Given the description of an element on the screen output the (x, y) to click on. 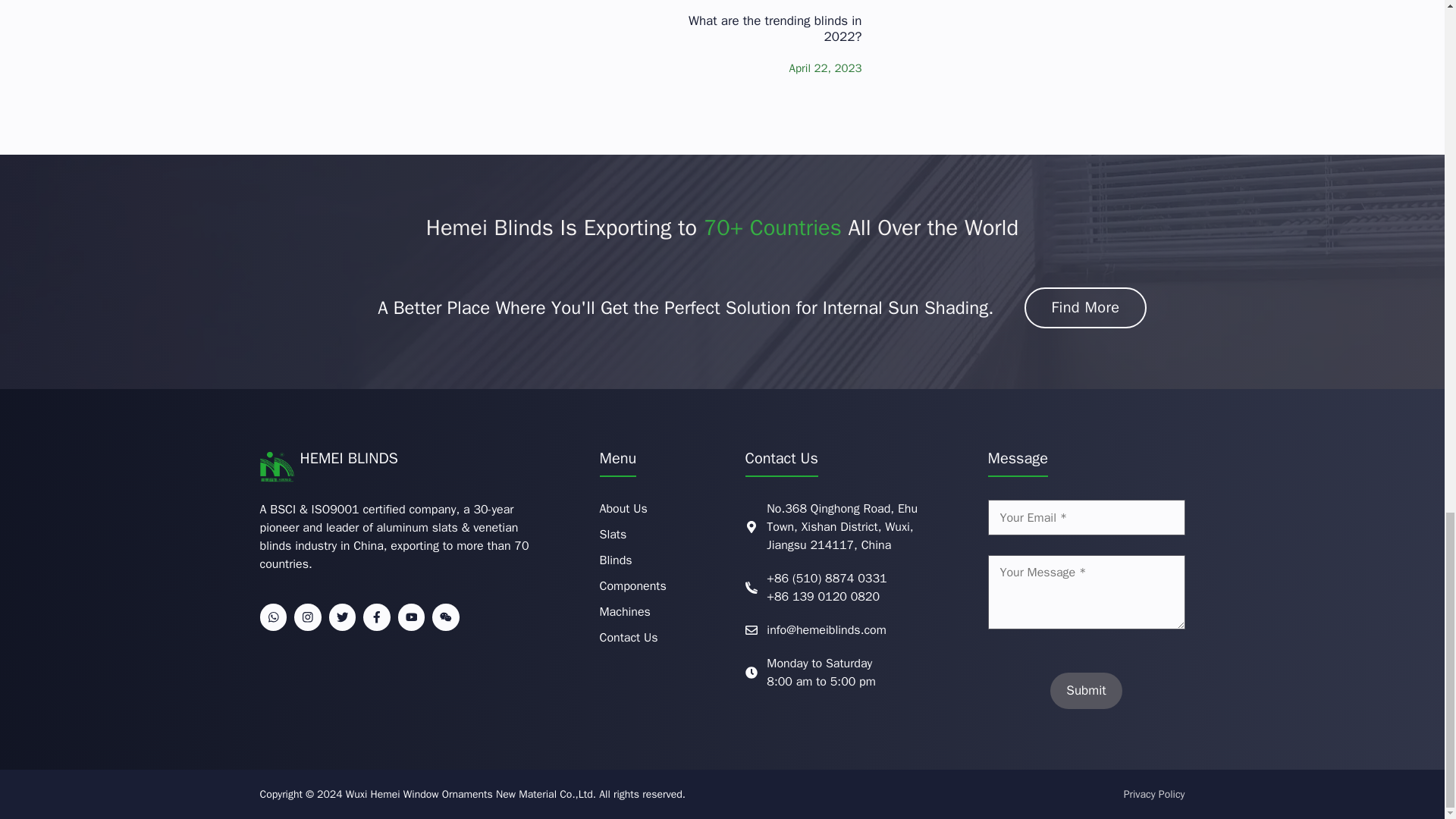
Find More (1085, 307)
Blinds (614, 560)
Scroll back to top (1406, 150)
What are the trending blinds in 2022? (774, 28)
HEMEI BLINDS (348, 457)
Slats (612, 534)
About Us (622, 508)
Submit (1085, 690)
